Given the description of an element on the screen output the (x, y) to click on. 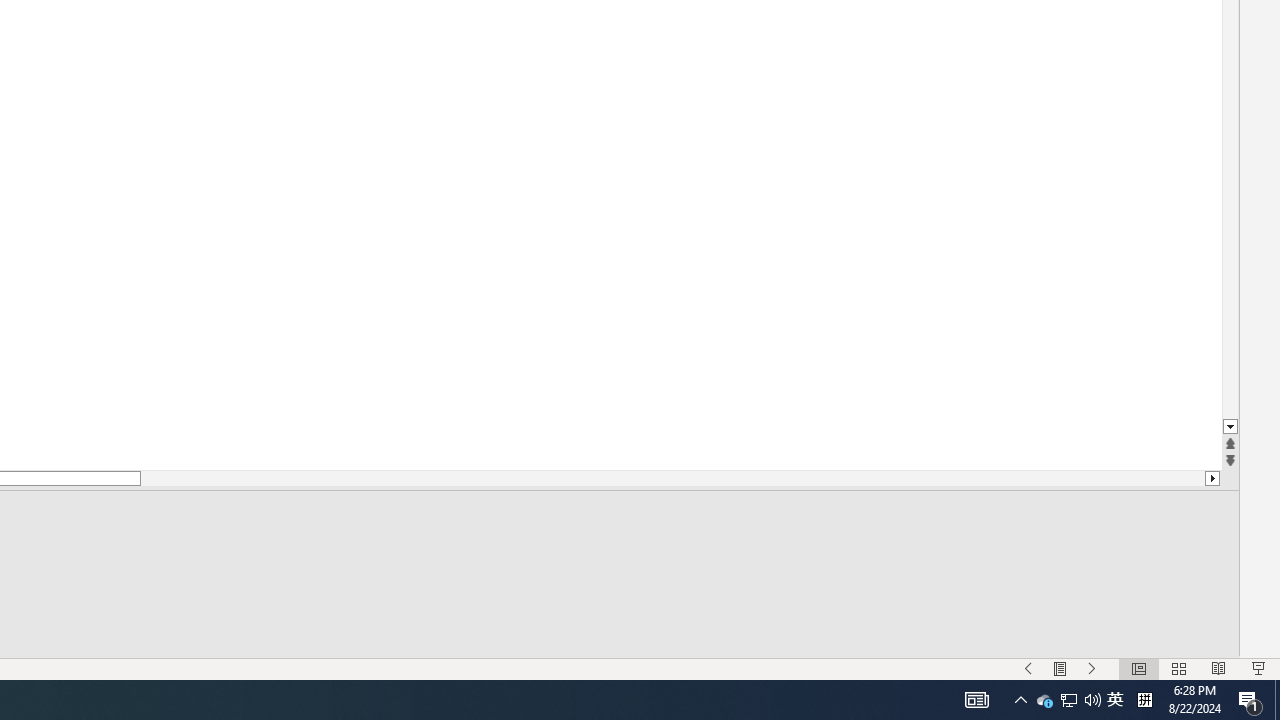
Slide Show Previous On (1028, 668)
Slide Show Next On (1092, 668)
Menu On (1060, 668)
